Given the description of an element on the screen output the (x, y) to click on. 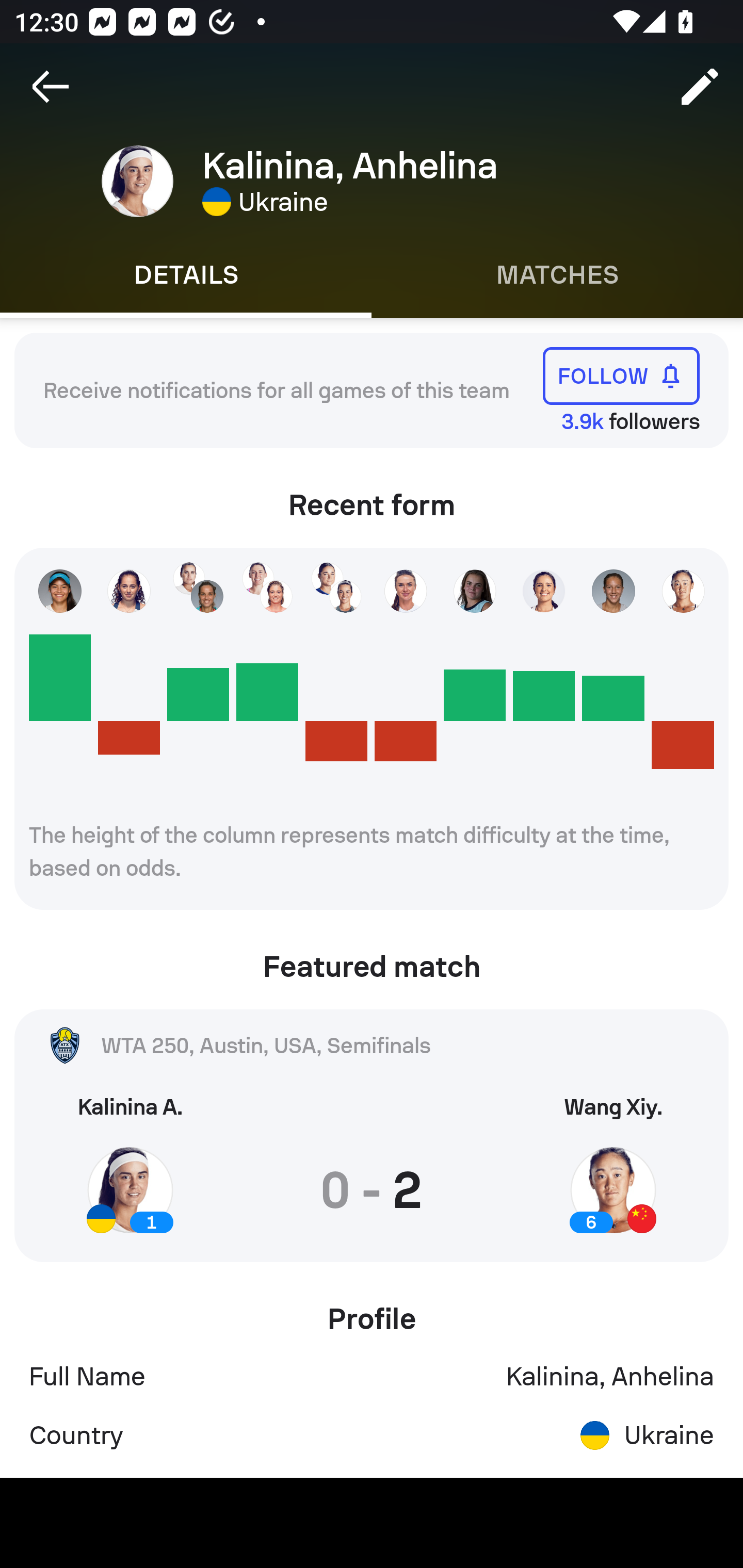
Navigate up (50, 86)
Edit (699, 86)
Matches MATCHES (557, 275)
FOLLOW (621, 375)
